Given the description of an element on the screen output the (x, y) to click on. 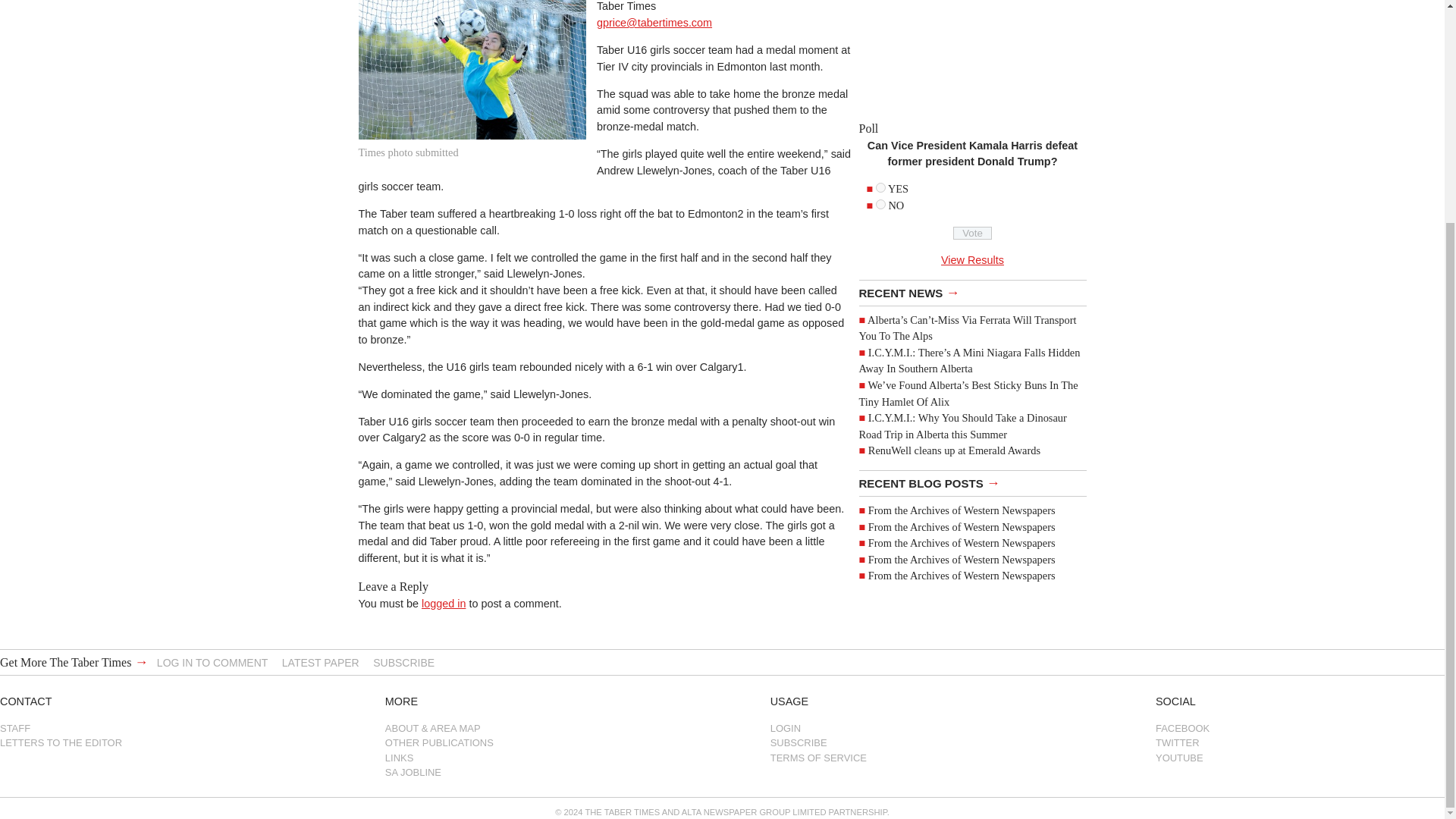
From the Archives of Western Newspapers (961, 526)
525 (880, 187)
View Results (972, 259)
From the Archives of Western Newspapers (961, 510)
From the Archives of Western Newspapers (961, 542)
From the Archives of Western Newspapers (961, 575)
   Vote    (972, 232)
RenuWell cleans up at Emerald Awards (954, 450)
From the Archives of Western Newspapers (961, 559)
526 (880, 204)
View Results Of This Poll (972, 259)
